Given the description of an element on the screen output the (x, y) to click on. 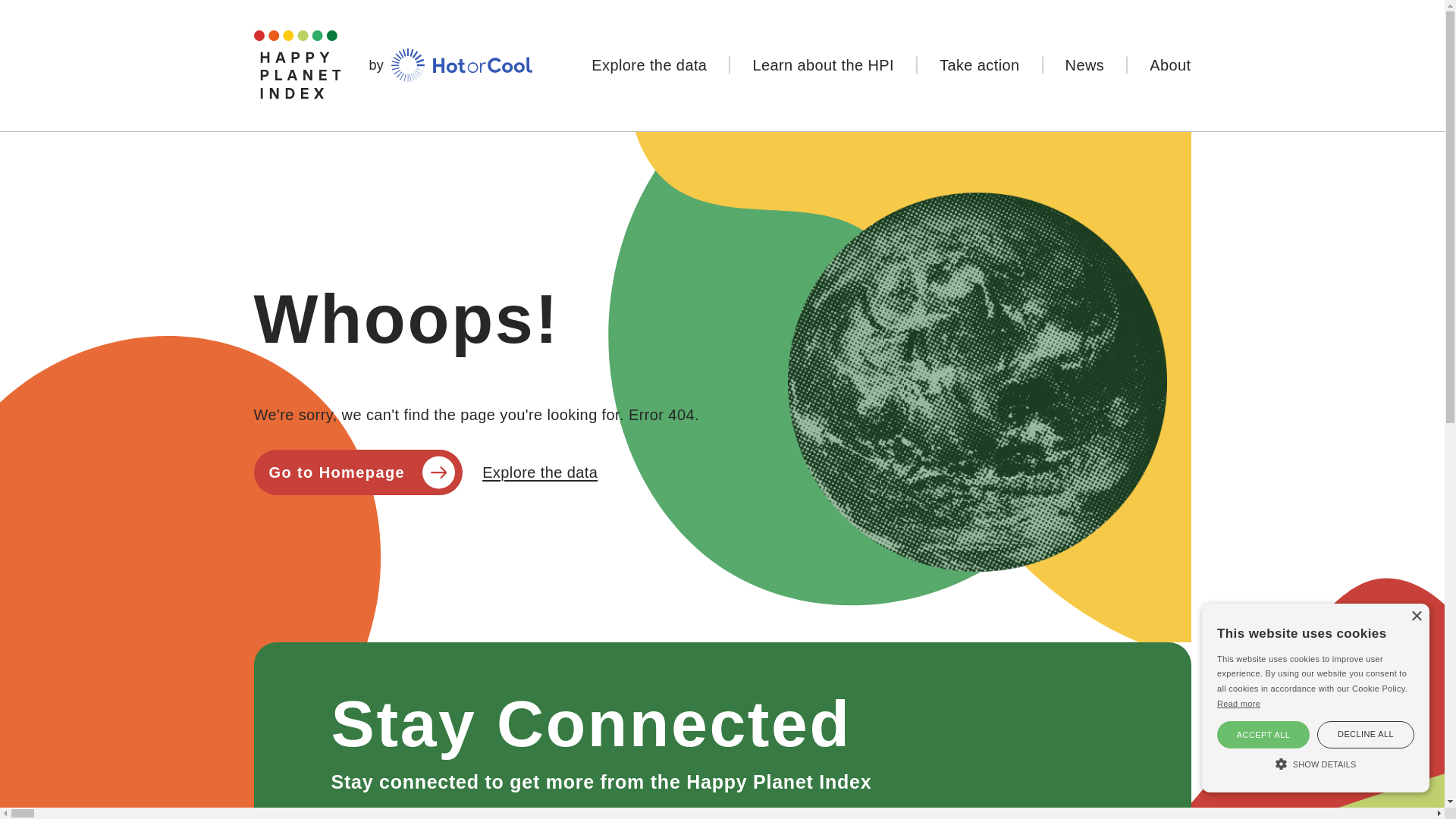
Hot Or Cool Institute (461, 64)
News (1084, 64)
About (1158, 64)
Take action (979, 64)
Explore the data (649, 64)
Take action (979, 64)
Explore the data (649, 64)
Learn about the HPI (823, 64)
Learn about the HPI (823, 64)
